Given the description of an element on the screen output the (x, y) to click on. 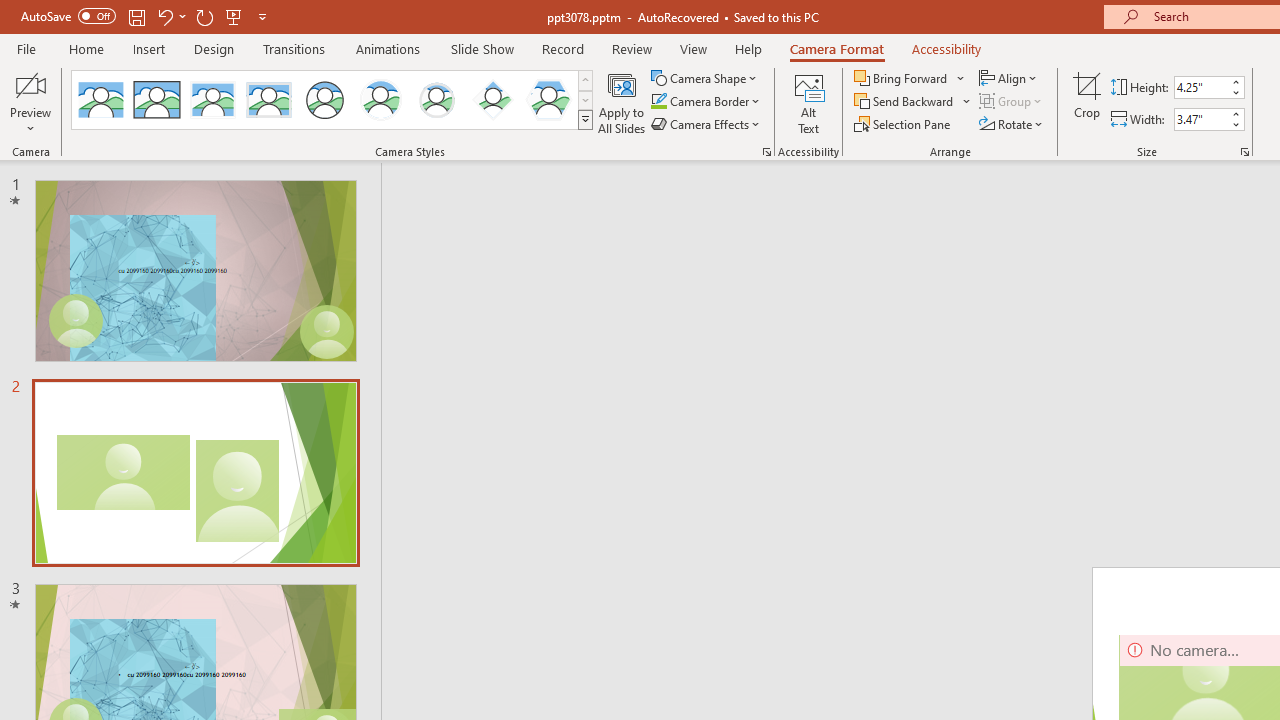
Selection Pane... (904, 124)
